Given the description of an element on the screen output the (x, y) to click on. 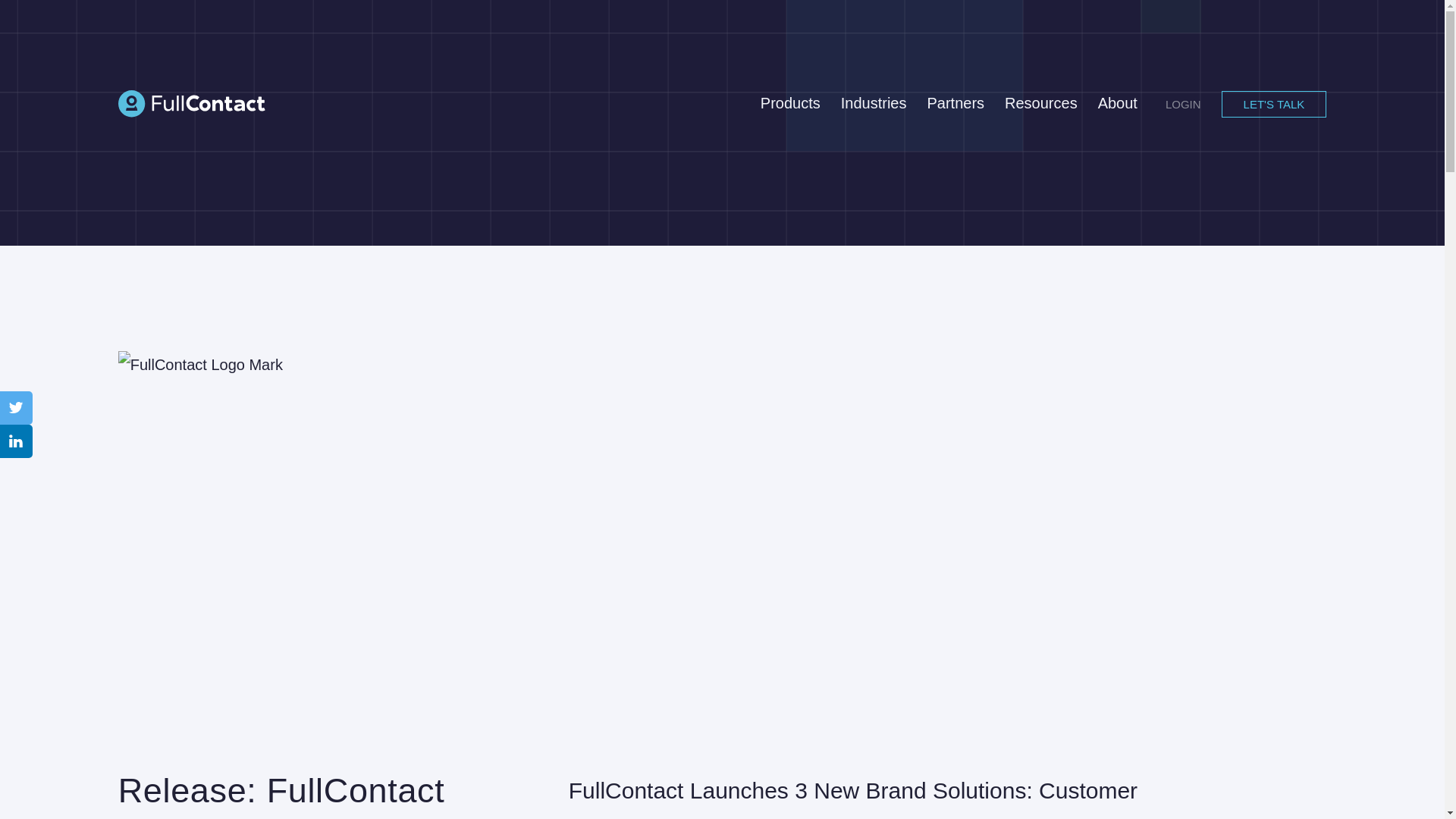
Products (790, 103)
Industries (874, 103)
